Given the description of an element on the screen output the (x, y) to click on. 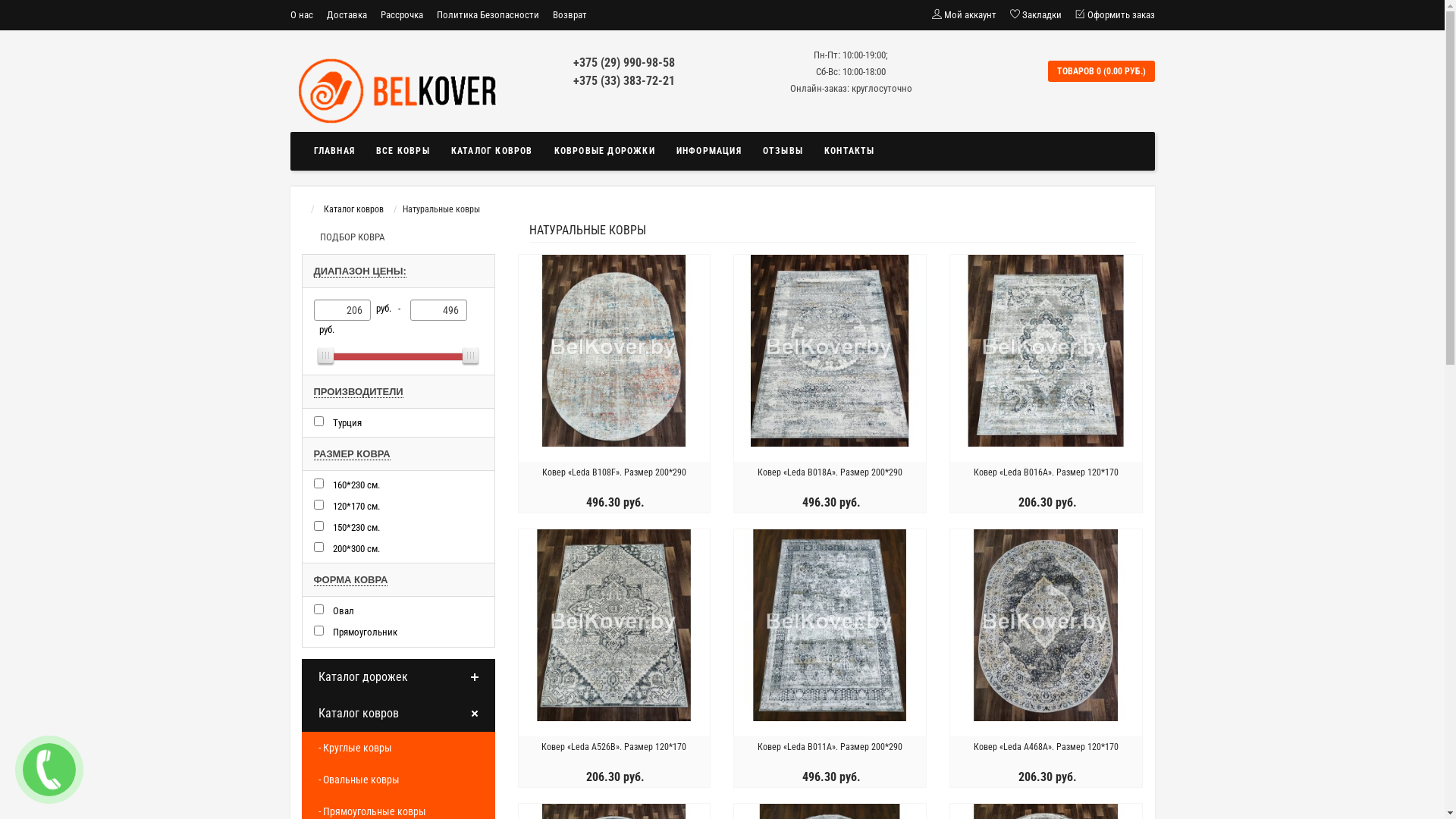
+375 (29) 990-98-58 Element type: text (623, 62)
+375 (33) 383-72-21 Element type: text (623, 80)
